Given the description of an element on the screen output the (x, y) to click on. 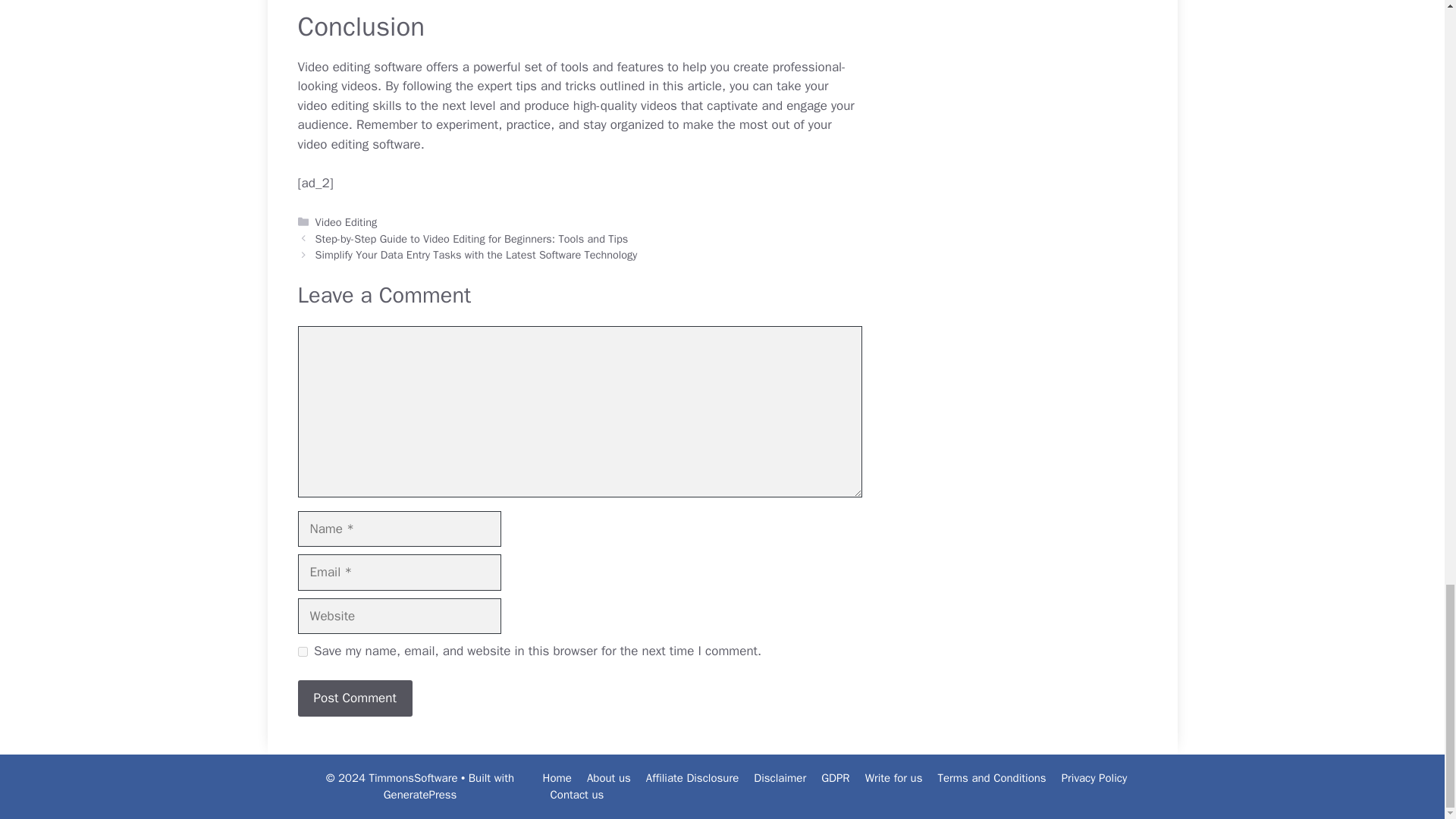
About us (608, 777)
Video Editing (346, 222)
yes (302, 651)
Post Comment (354, 698)
Terms and Conditions (991, 777)
Post Comment (354, 698)
GDPR (834, 777)
Contact us (577, 794)
